Given the description of an element on the screen output the (x, y) to click on. 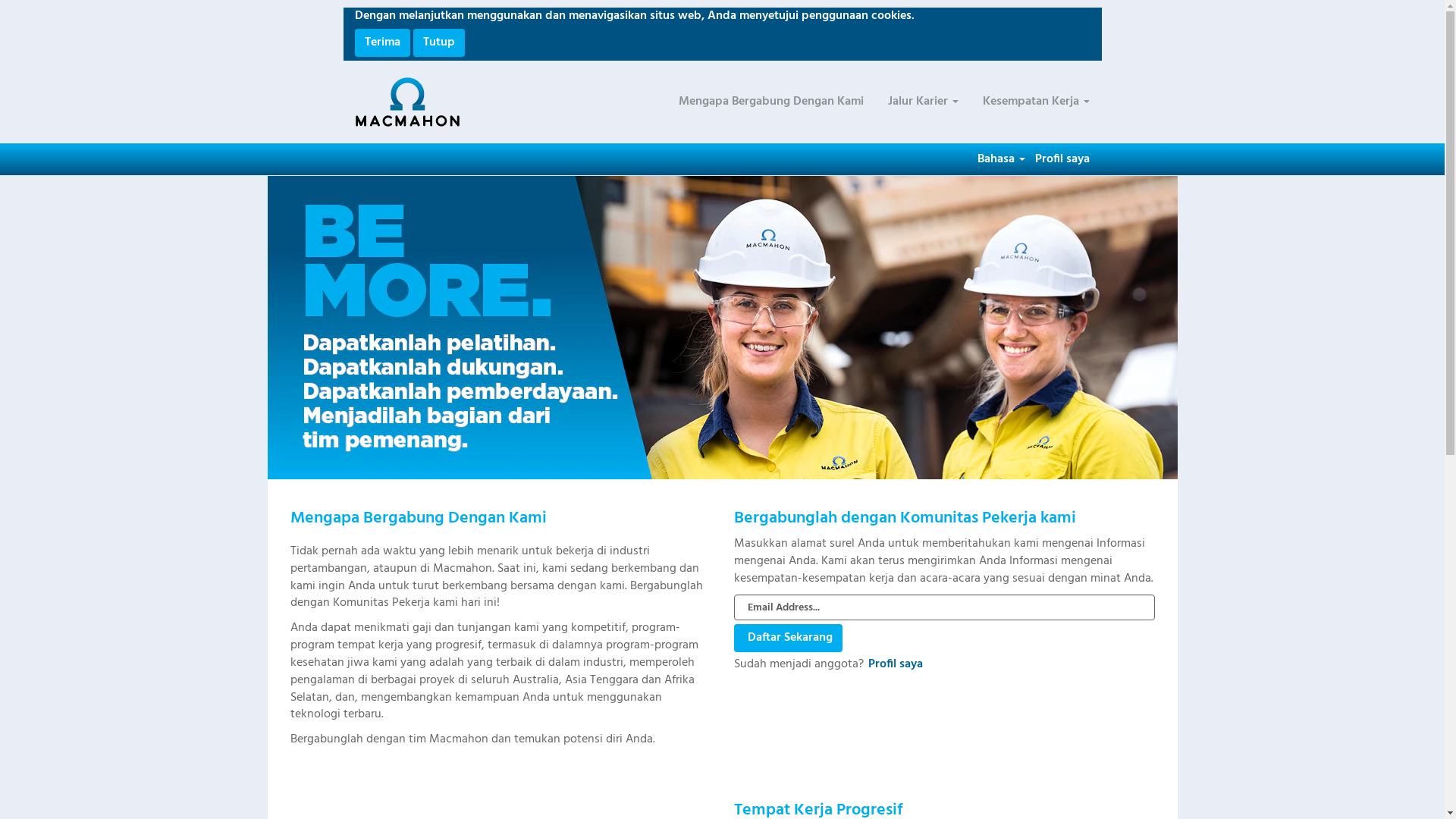
Profil saya Element type: text (1062, 159)
Jalur Karier Element type: text (923, 101)
Mengapa Bergabung Dengan Kami Element type: text (770, 101)
Bahasa Element type: text (1001, 159)
Terima Element type: text (382, 42)
Macmahon Element type: hover (407, 101)
Profil saya Element type: text (895, 663)
Kesempatan Kerja Element type: text (1035, 101)
Daftar Sekarang Element type: text (788, 638)
Tutup Element type: text (438, 42)
